Given the description of an element on the screen output the (x, y) to click on. 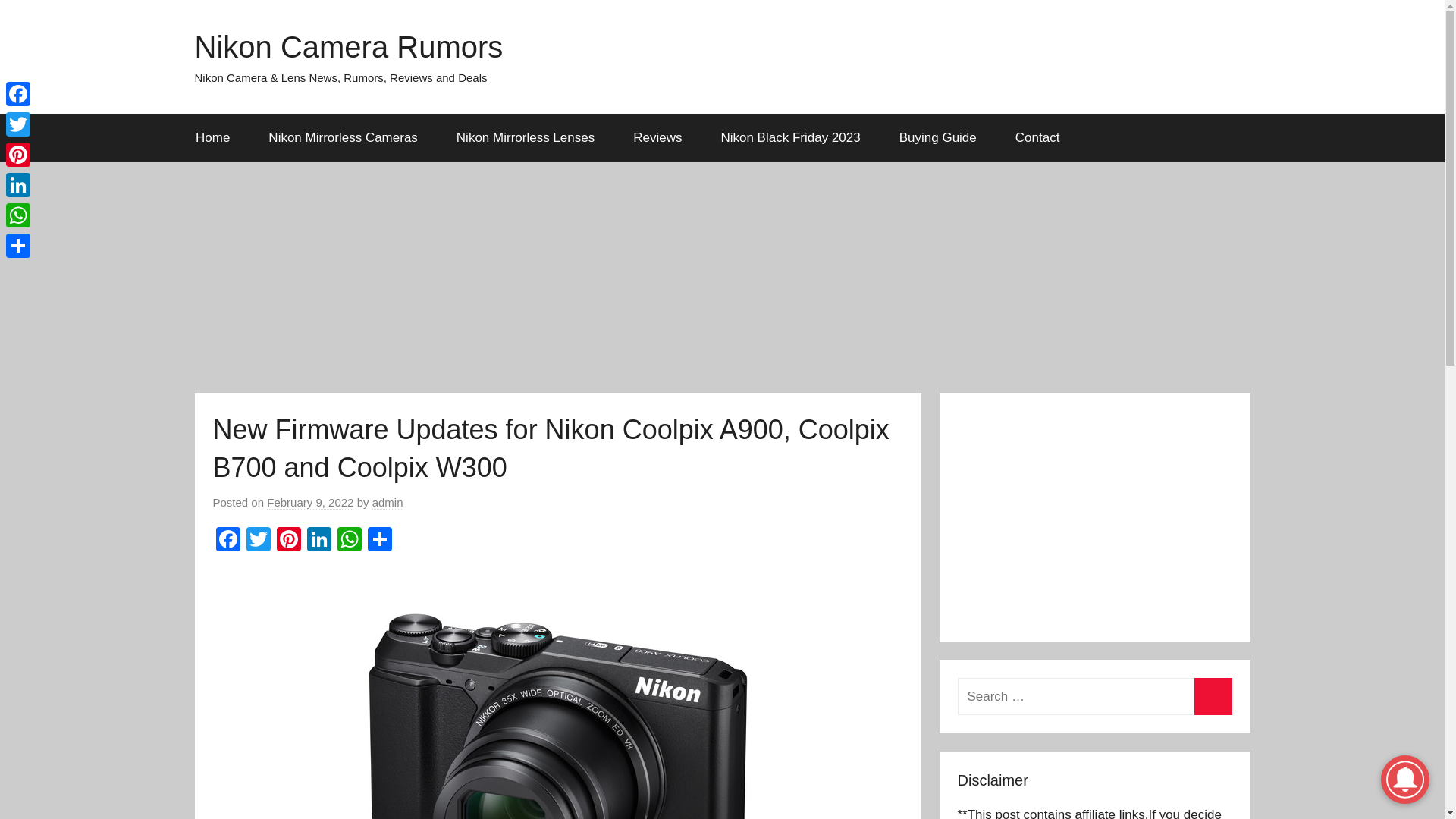
View all posts by admin (387, 502)
Pinterest (287, 541)
Twitter (258, 541)
Nikon Mirrorless Lenses (524, 137)
February 9, 2022 (309, 502)
Facebook (227, 541)
Home (212, 137)
WhatsApp (348, 541)
Twitter (258, 541)
LinkedIn (317, 541)
WhatsApp (348, 541)
admin (387, 502)
Contact (1036, 137)
Nikon Black Friday 2023 (790, 137)
